Given the description of an element on the screen output the (x, y) to click on. 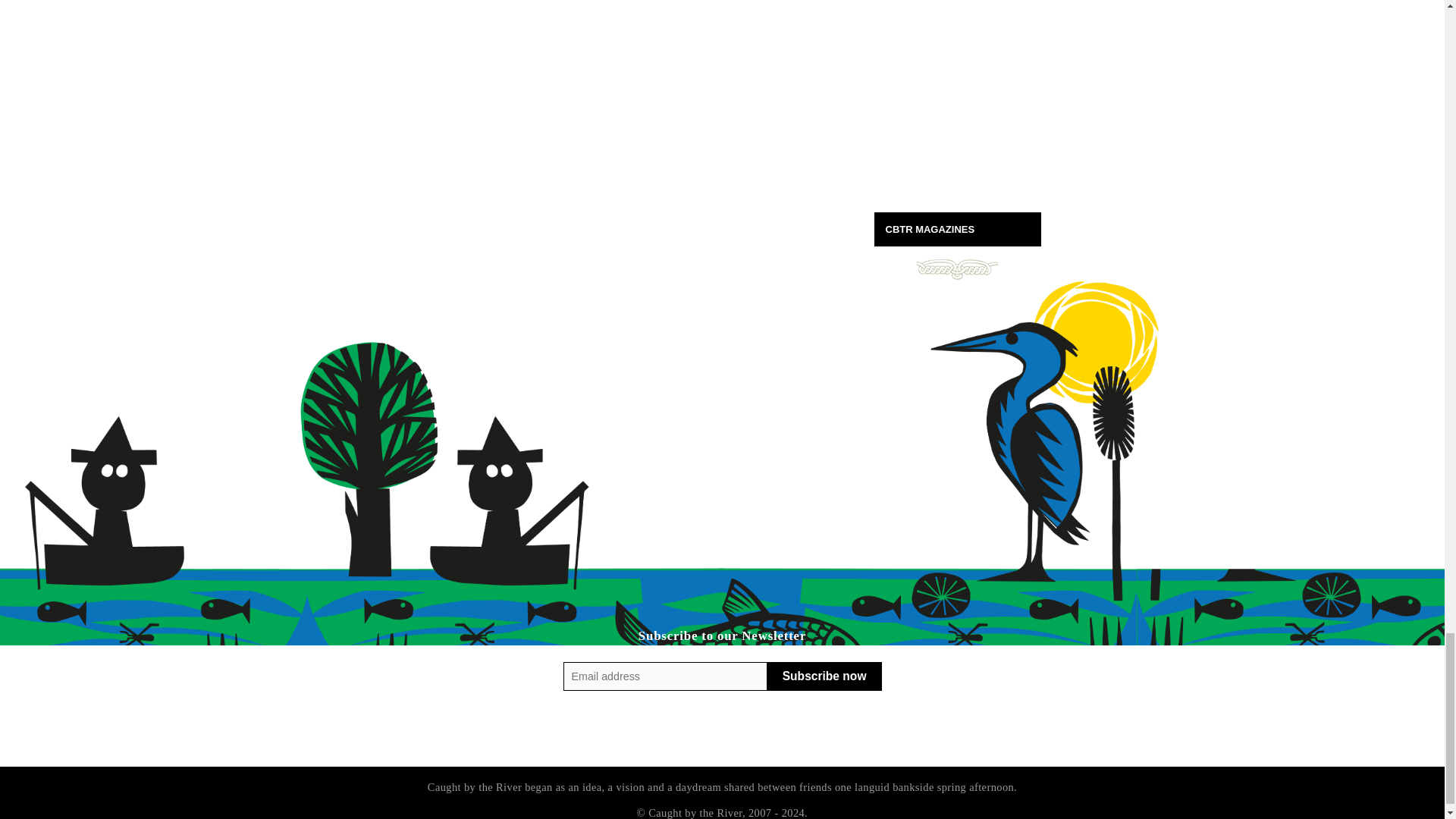
Follow us on Instagram (676, 728)
Follow us on Twitter (737, 728)
Find us on Facebook (707, 728)
Email usk (767, 728)
Subscribe now (824, 676)
